Given the description of an element on the screen output the (x, y) to click on. 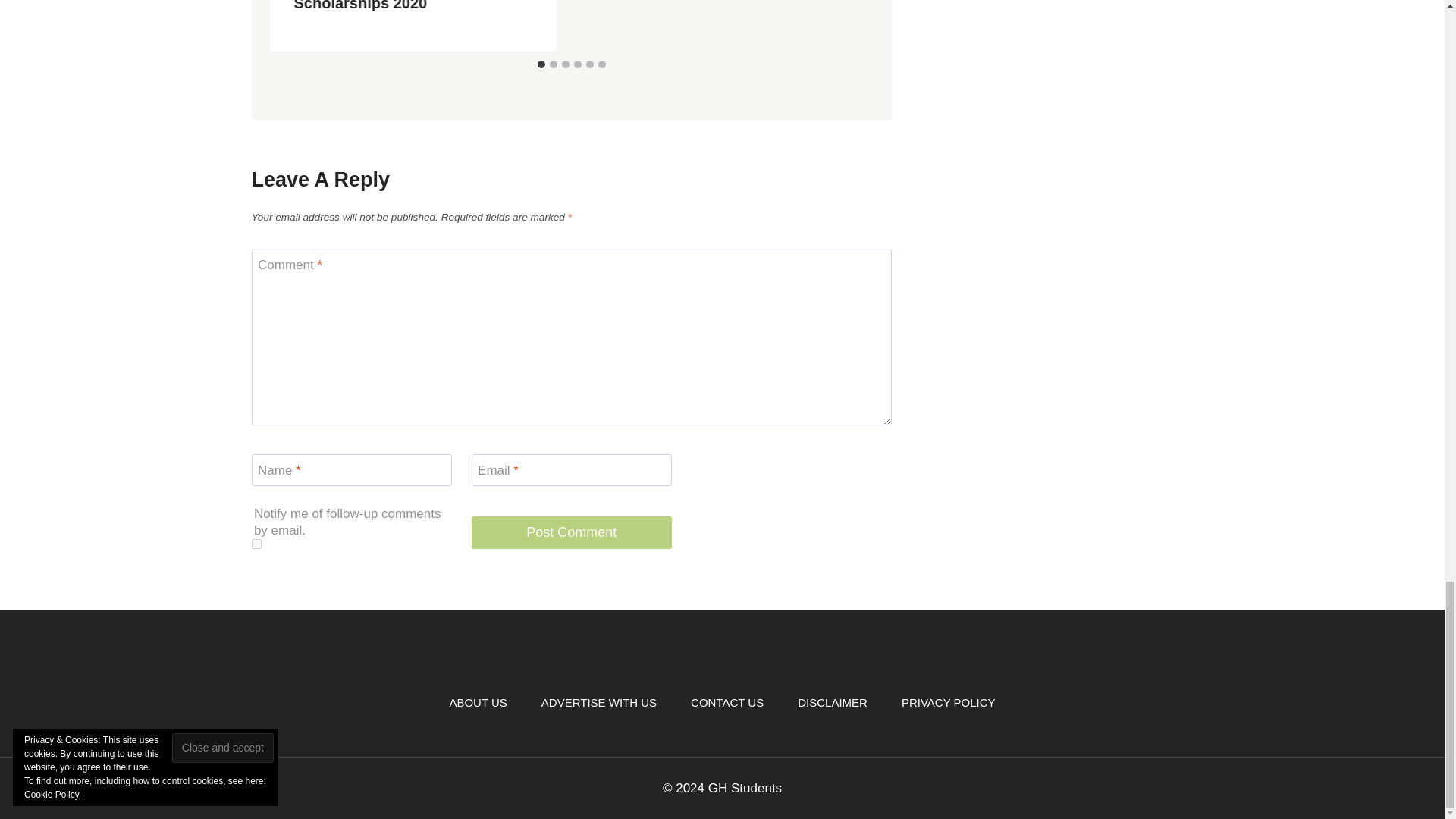
subscribe (256, 543)
Post Comment (571, 532)
